Given the description of an element on the screen output the (x, y) to click on. 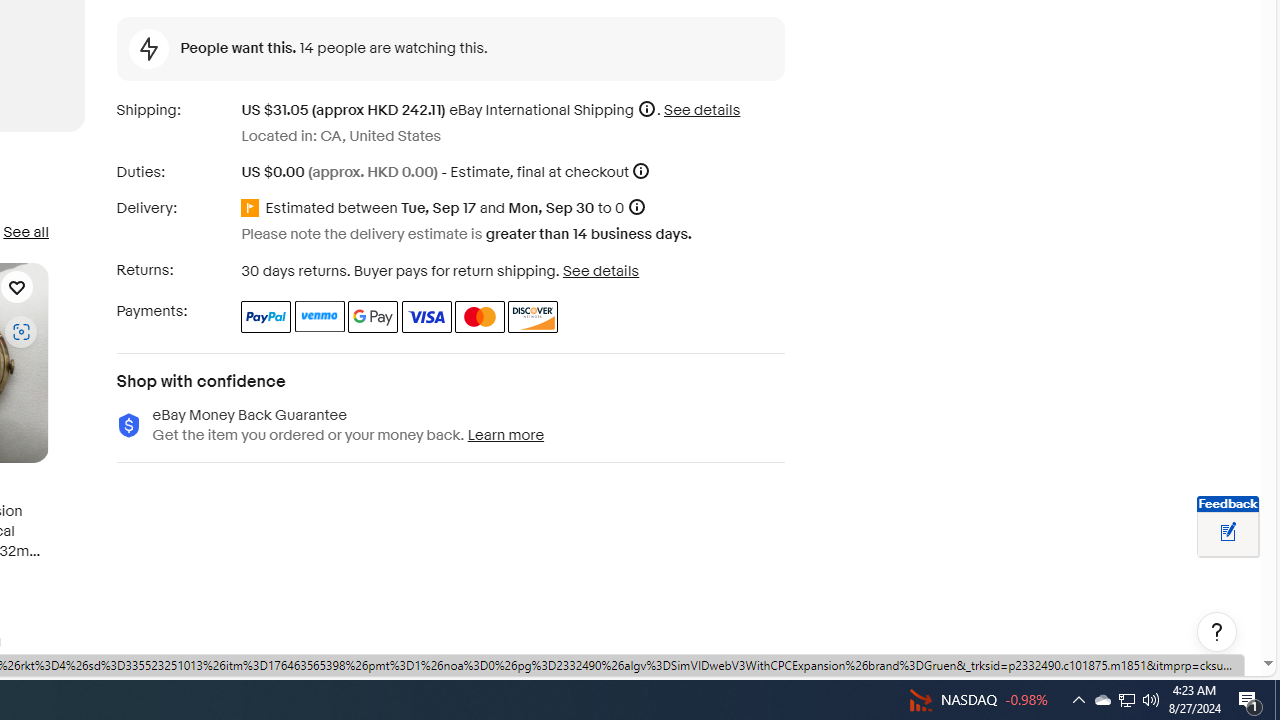
PayPal (265, 316)
Delivery alert flag (253, 209)
